Given the description of an element on the screen output the (x, y) to click on. 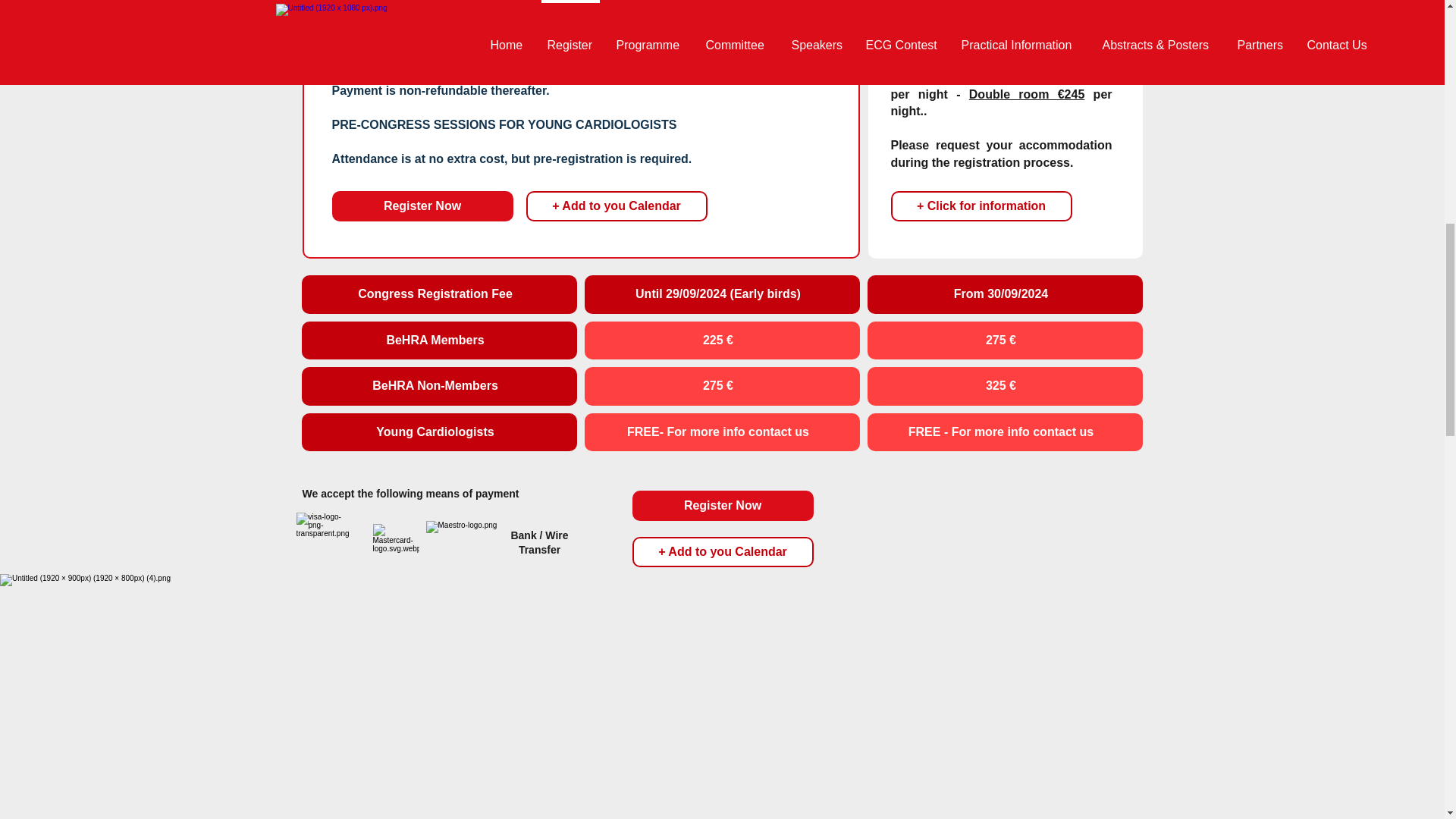
Register Now (722, 505)
Register Now (422, 205)
